Given the description of an element on the screen output the (x, y) to click on. 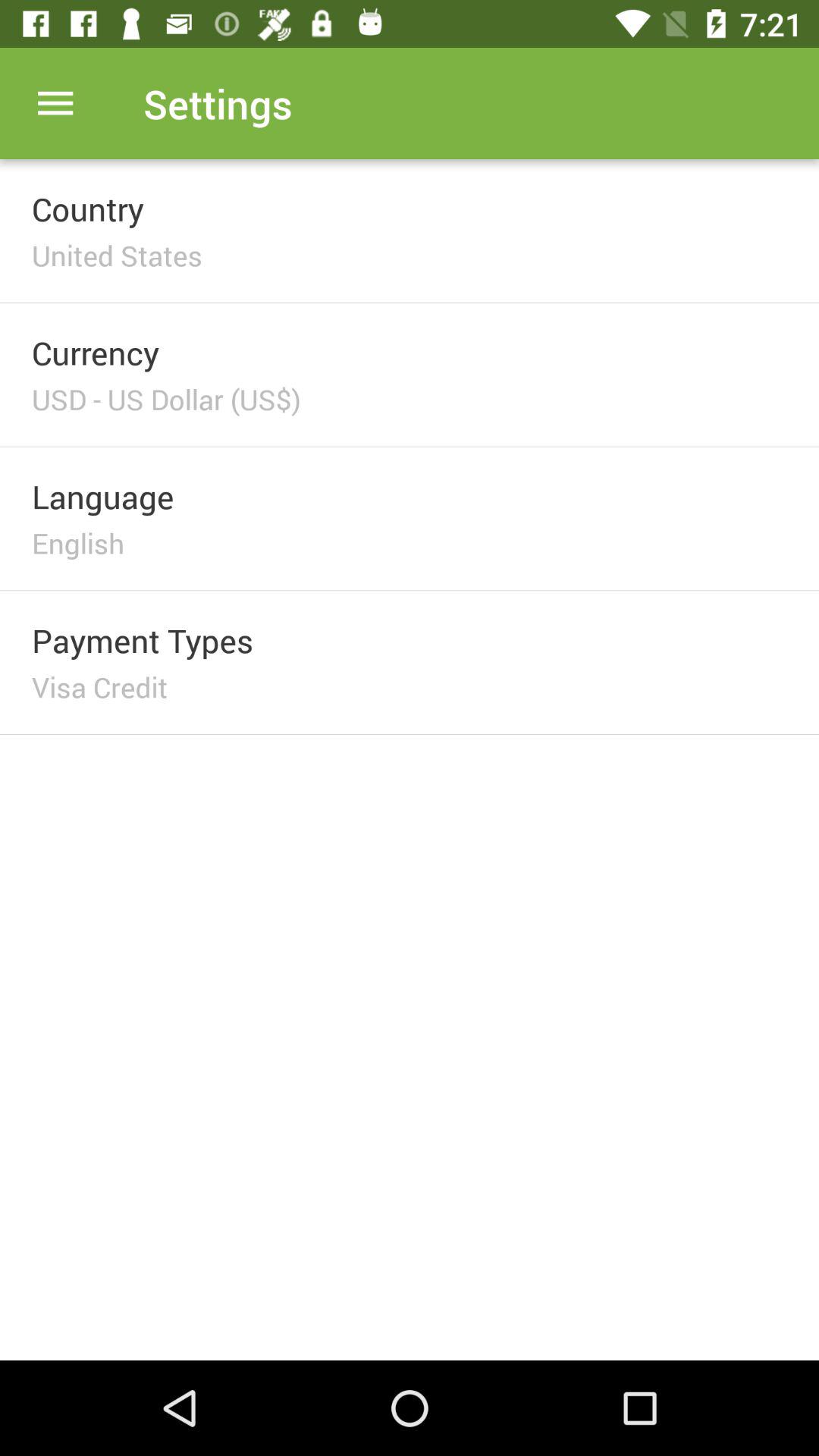
click item next to settings item (55, 103)
